Given the description of an element on the screen output the (x, y) to click on. 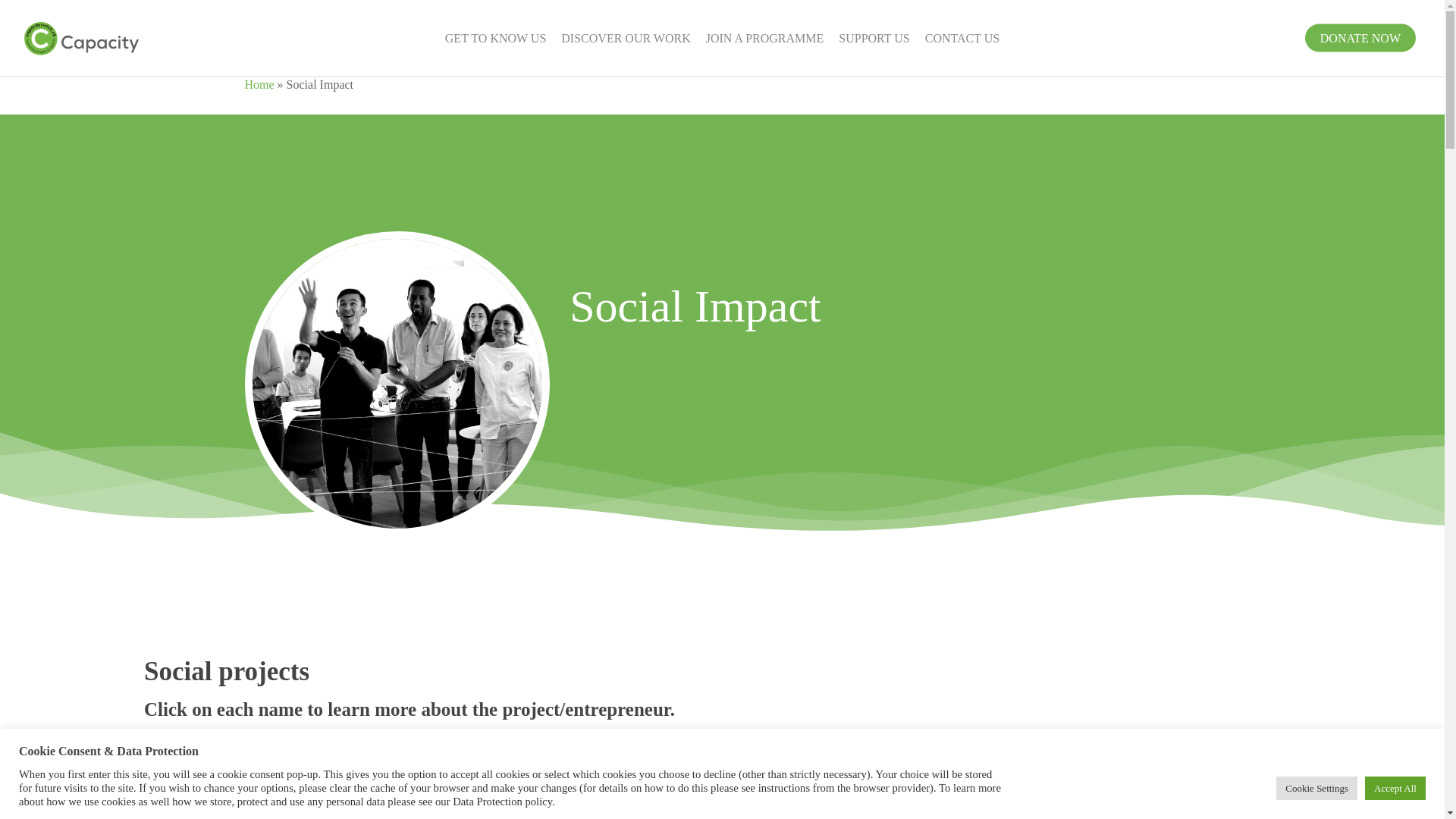
GET TO KNOW US (496, 37)
SUPPORT US (874, 37)
DISCOVER OUR WORK (625, 37)
JOIN A PROGRAMME (764, 37)
Home (258, 83)
CONTACT US (962, 37)
DONATE NOW (1359, 37)
